Given the description of an element on the screen output the (x, y) to click on. 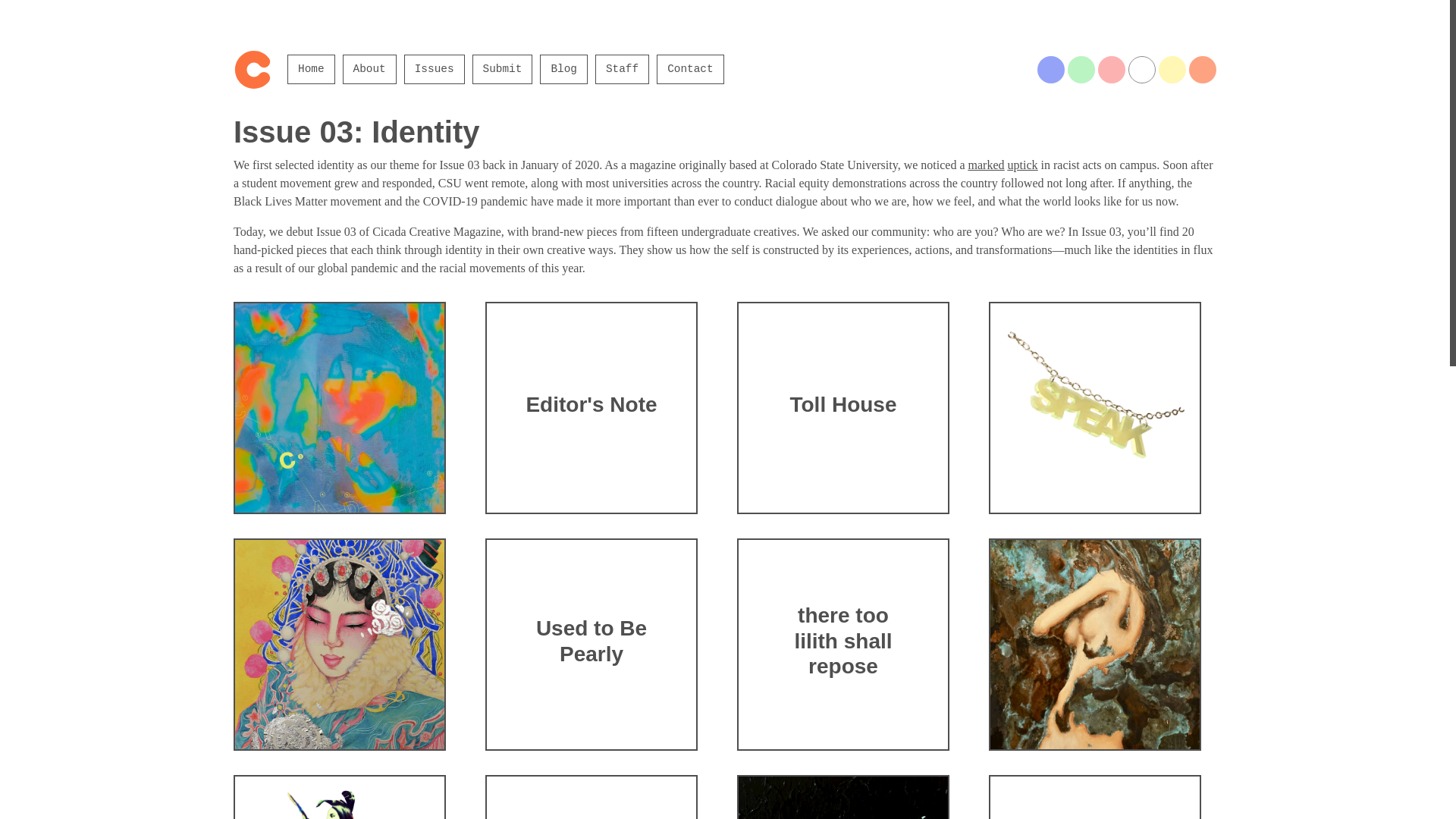
blue (1050, 69)
red (1202, 69)
white (1142, 69)
uptick (1021, 164)
Contact (690, 69)
Submit (502, 69)
Used to Be Pearly (590, 643)
Issues (434, 69)
About (369, 69)
there too lilith shall repose (842, 643)
marked (986, 164)
pink (1111, 69)
Editor's Note (591, 408)
Toll House (842, 408)
Blog (563, 69)
